Given the description of an element on the screen output the (x, y) to click on. 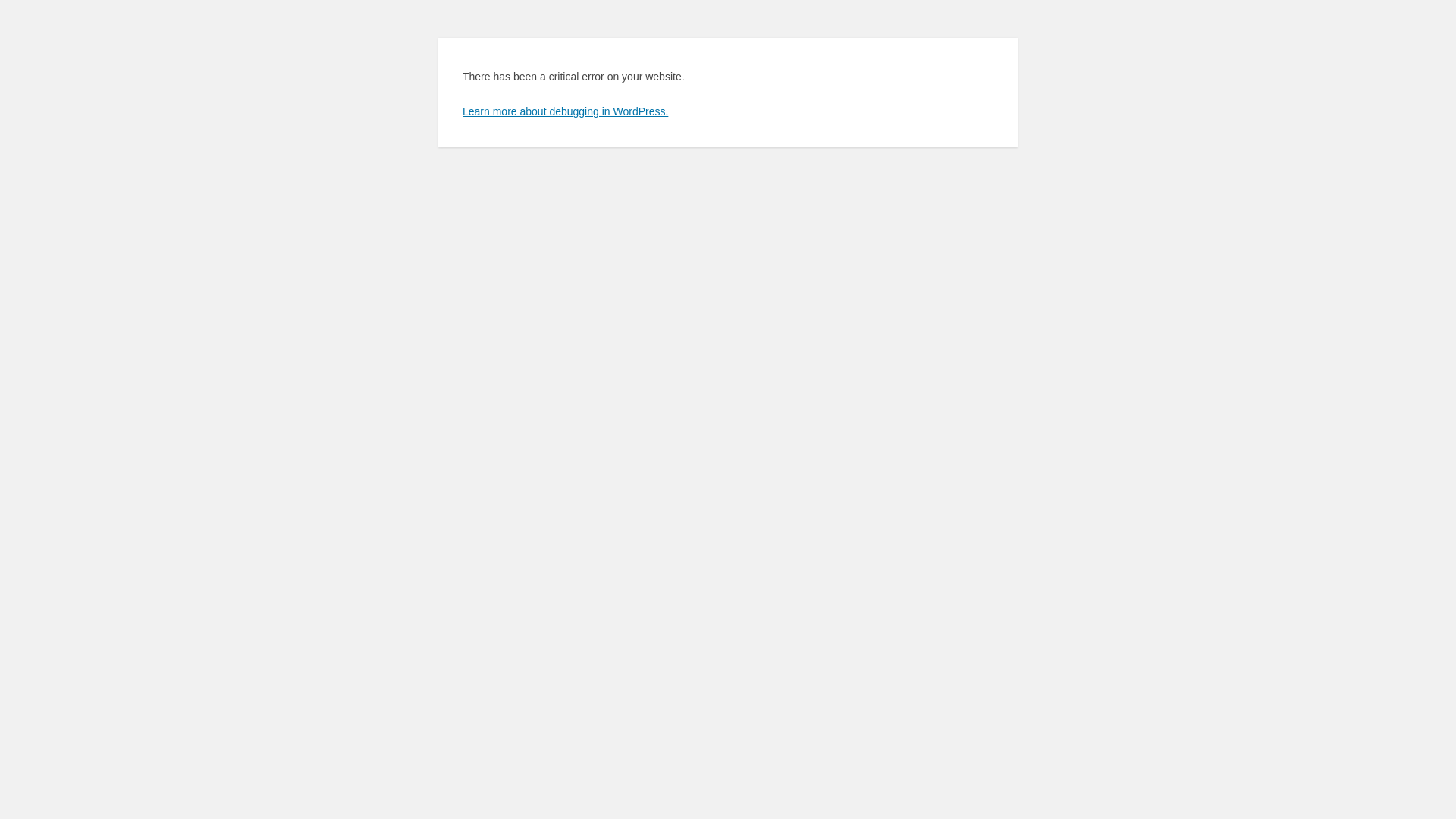
Learn more about debugging in WordPress. Element type: text (565, 111)
